Given the description of an element on the screen output the (x, y) to click on. 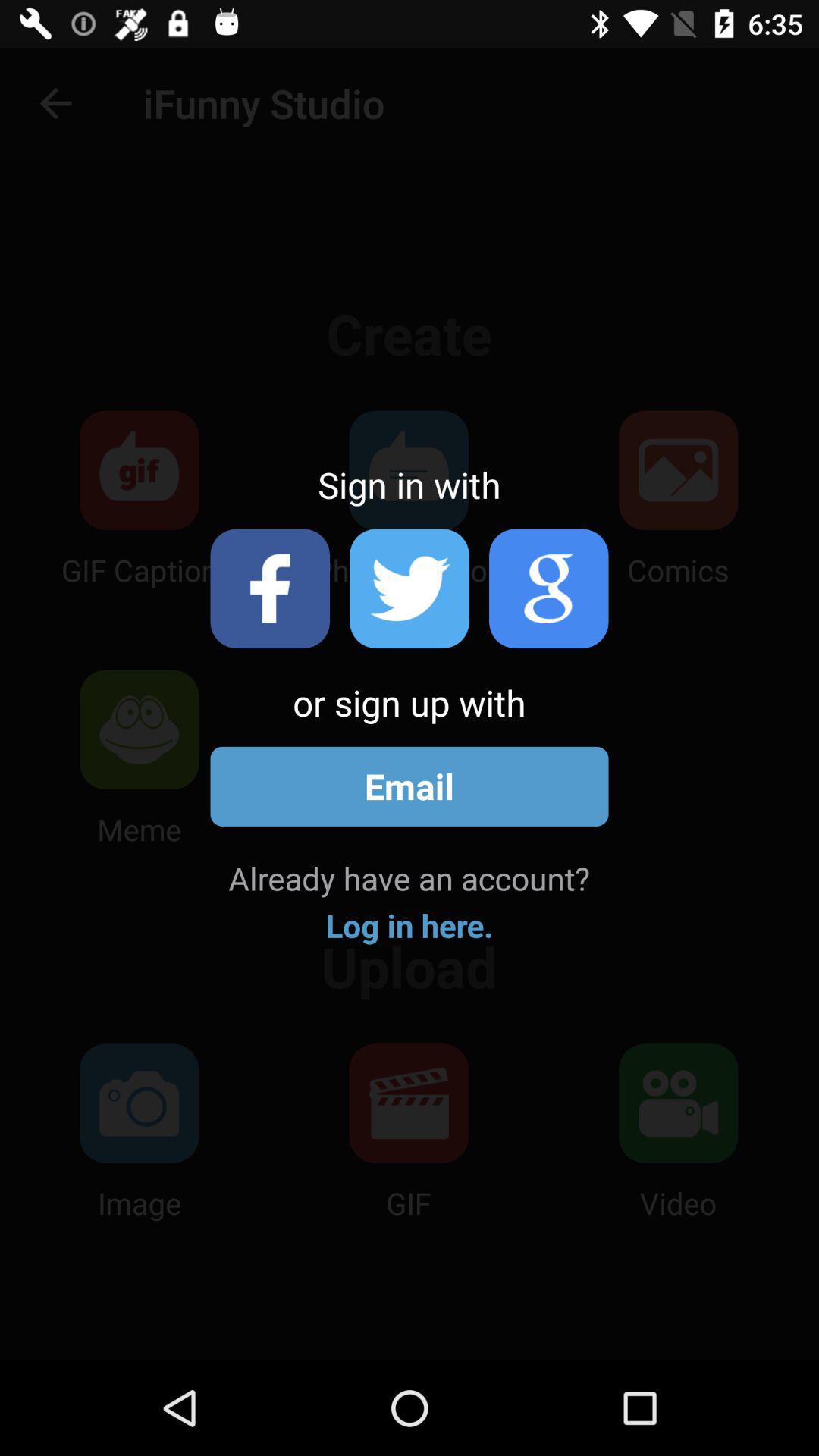
sign in with twitter (409, 588)
